Given the description of an element on the screen output the (x, y) to click on. 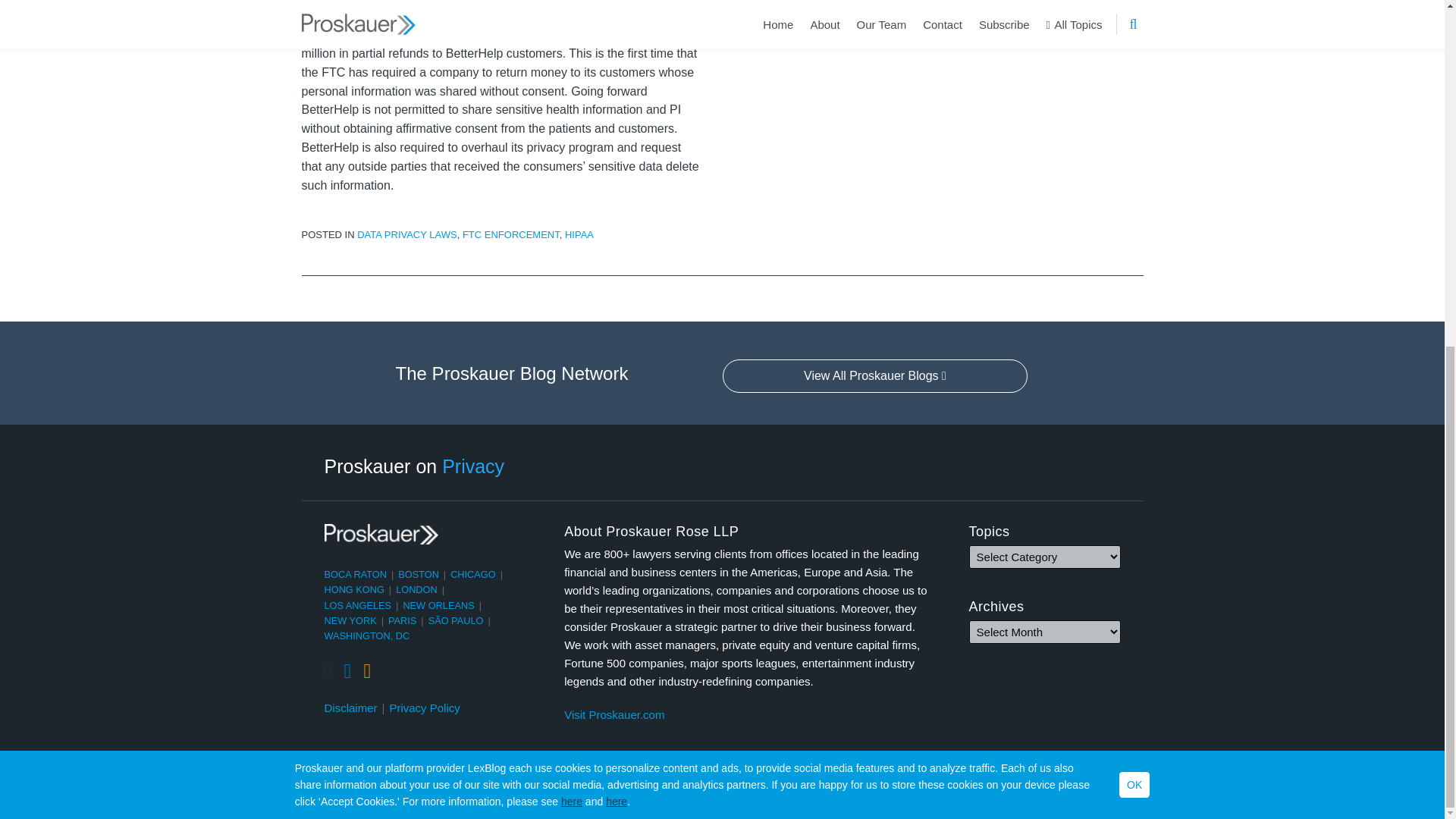
NEW YORK (350, 620)
FTC ENFORCEMENT (511, 234)
linkedin (347, 671)
HIPAA (579, 234)
View All Proskauer Blogs (874, 376)
WASHINGTON, DC (367, 635)
Proskauer on Privacy (414, 465)
Twitter (327, 671)
HONG KONG (354, 589)
LexBlog Logo (1131, 793)
here (616, 205)
CHICAGO (472, 573)
NEW ORLEANS (438, 604)
OK (1134, 188)
LONDON (417, 589)
